Given the description of an element on the screen output the (x, y) to click on. 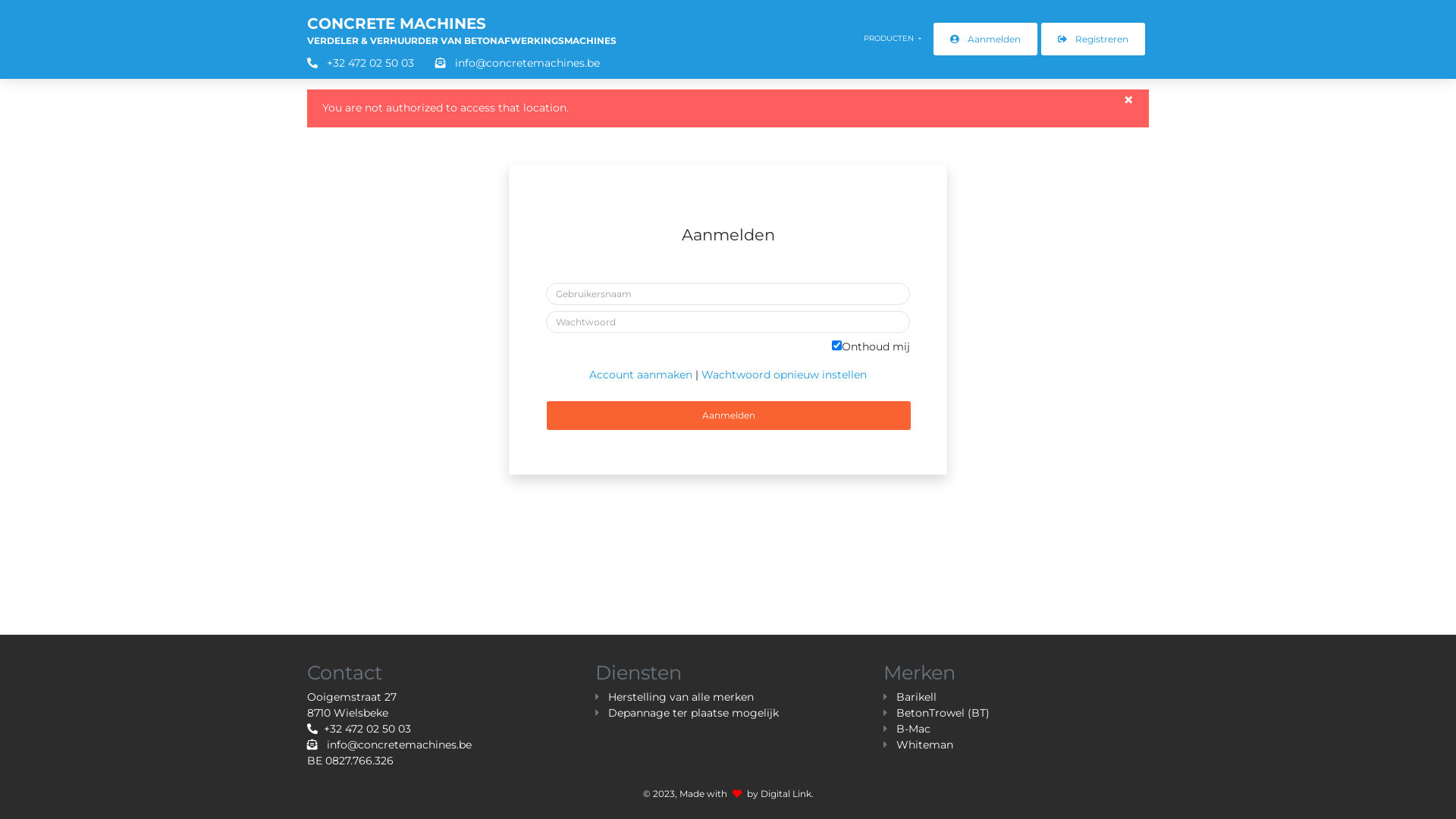
PRODUCTEN Element type: text (892, 38)
info@concretemachines.be Element type: text (508, 62)
Registreren Element type: text (1093, 38)
Account aanmaken Element type: text (640, 374)
Digital Link Element type: text (784, 793)
info@concretemachines.be Element type: text (389, 744)
Aanmelden Element type: text (728, 415)
+32 472 02 50 03 Element type: text (359, 728)
+32 472 02 50 03 Element type: text (360, 62)
Aanmelden Element type: text (985, 38)
Wachtwoord opnieuw instellen Element type: text (783, 374)
